Given the description of an element on the screen output the (x, y) to click on. 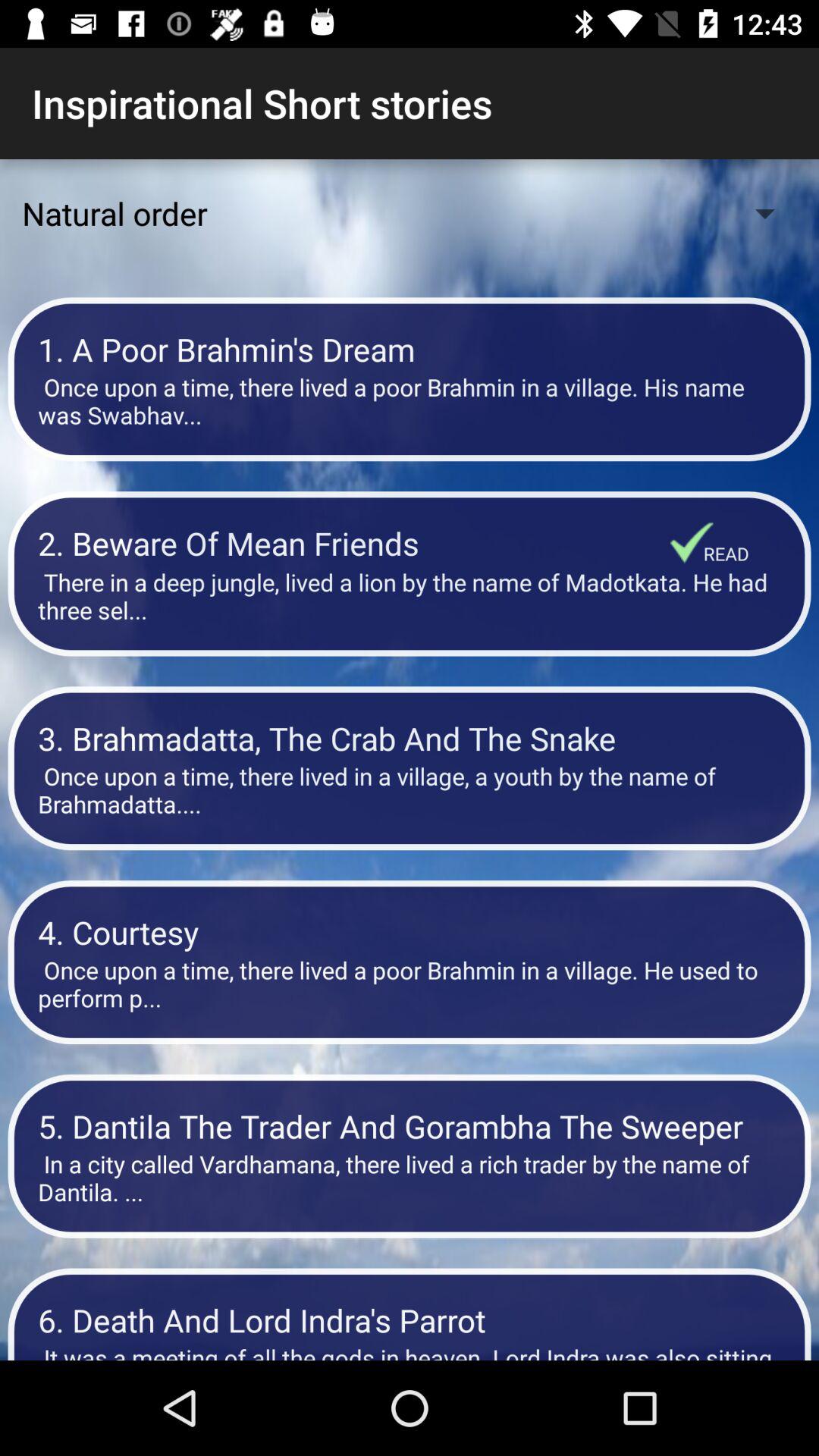
flip until the 5 dantila the item (409, 1125)
